Given the description of an element on the screen output the (x, y) to click on. 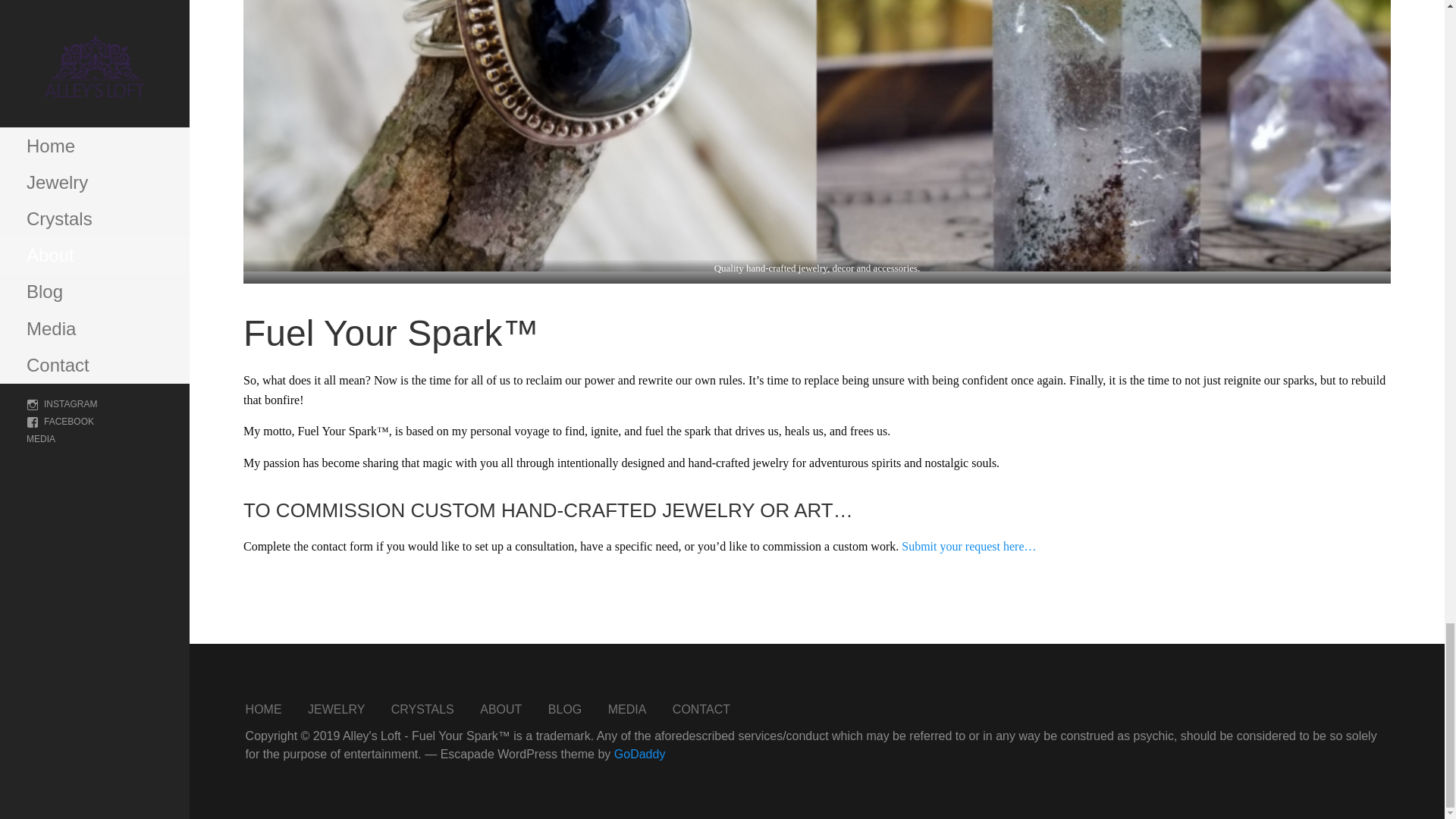
HOME (264, 708)
ABOUT (500, 708)
BLOG (564, 708)
CONTACT (701, 708)
CRYSTALS (422, 708)
MEDIA (627, 708)
GoDaddy (639, 753)
JEWELRY (336, 708)
